Given the description of an element on the screen output the (x, y) to click on. 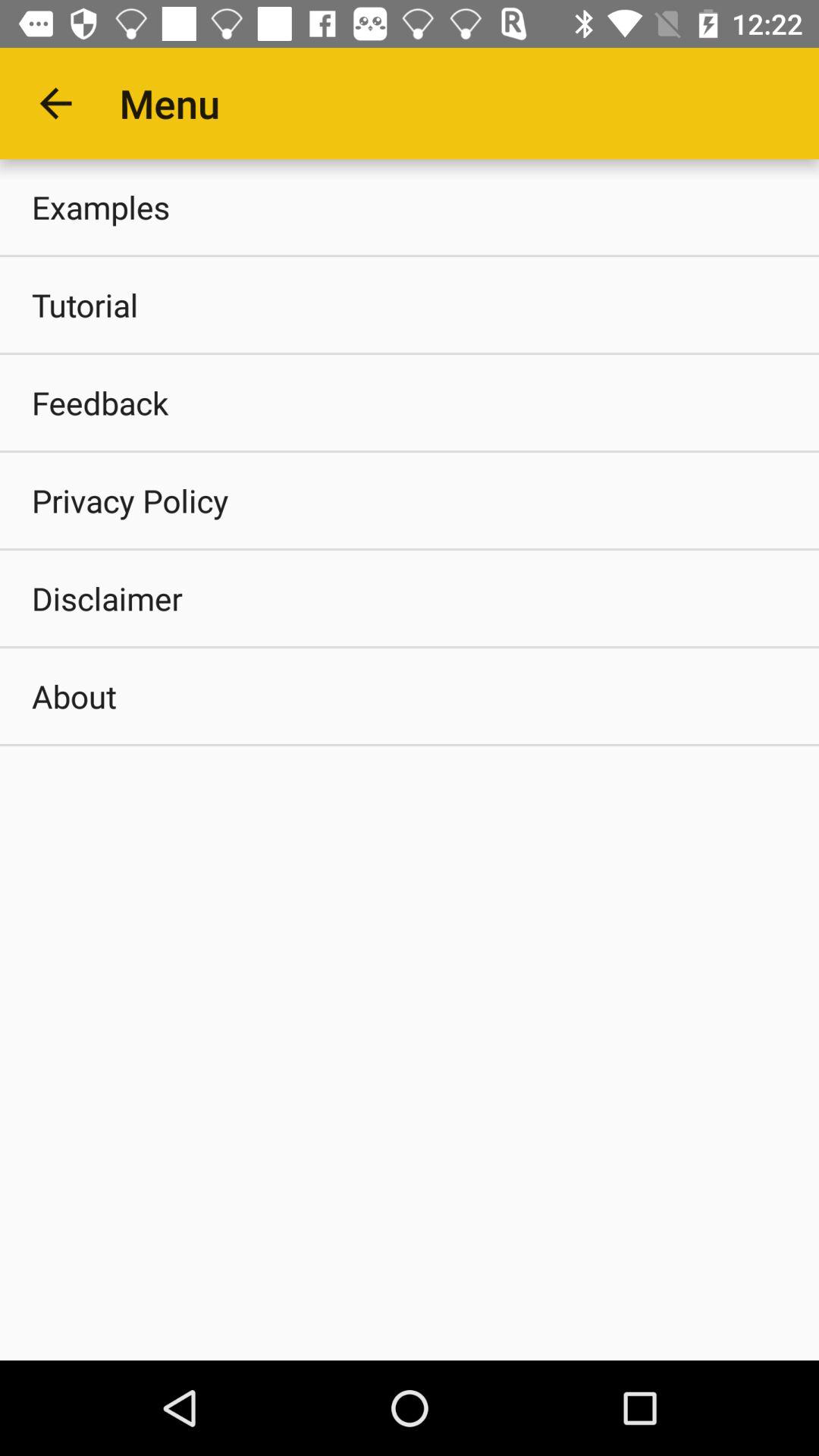
launch app to the left of menu app (55, 103)
